Given the description of an element on the screen output the (x, y) to click on. 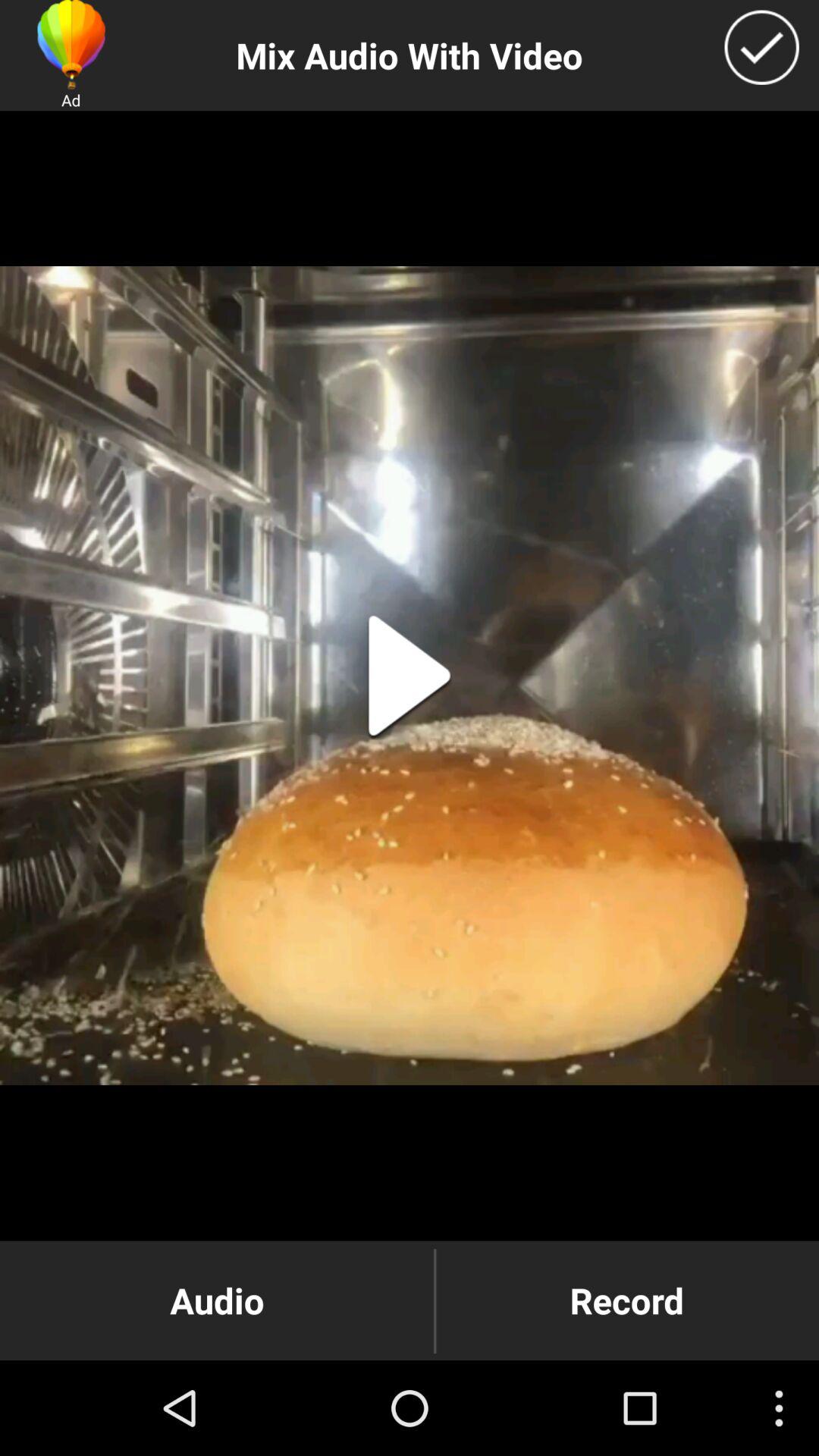
mix audio with video (761, 47)
